Given the description of an element on the screen output the (x, y) to click on. 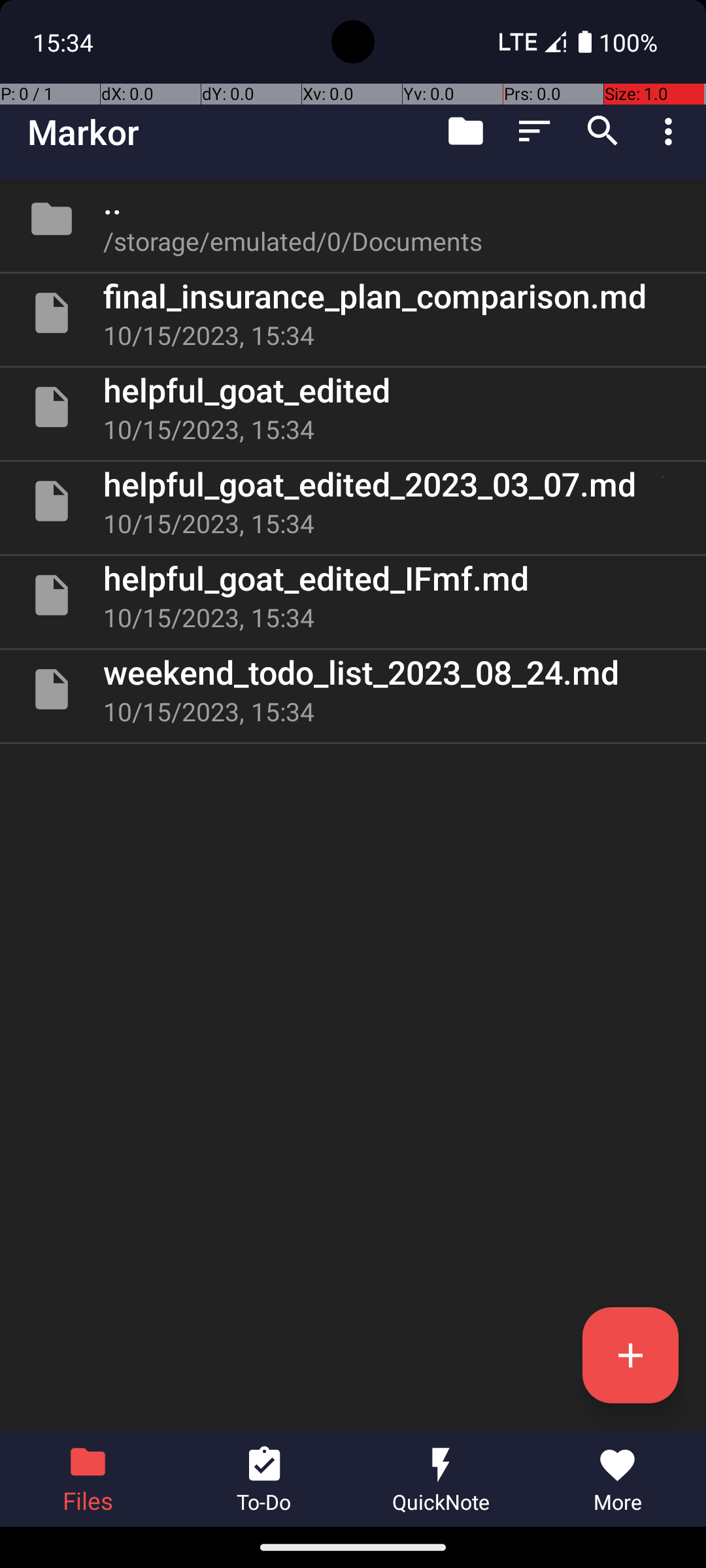
File final_insurance_plan_comparison.md  Element type: android.widget.LinearLayout (353, 312)
File helpful_goat_edited  Element type: android.widget.LinearLayout (353, 406)
File helpful_goat_edited_2023_03_07.md  Element type: android.widget.LinearLayout (353, 500)
File helpful_goat_edited_IFmf.md  Element type: android.widget.LinearLayout (353, 594)
File weekend_todo_list_2023_08_24.md  Element type: android.widget.LinearLayout (353, 689)
